Given the description of an element on the screen output the (x, y) to click on. 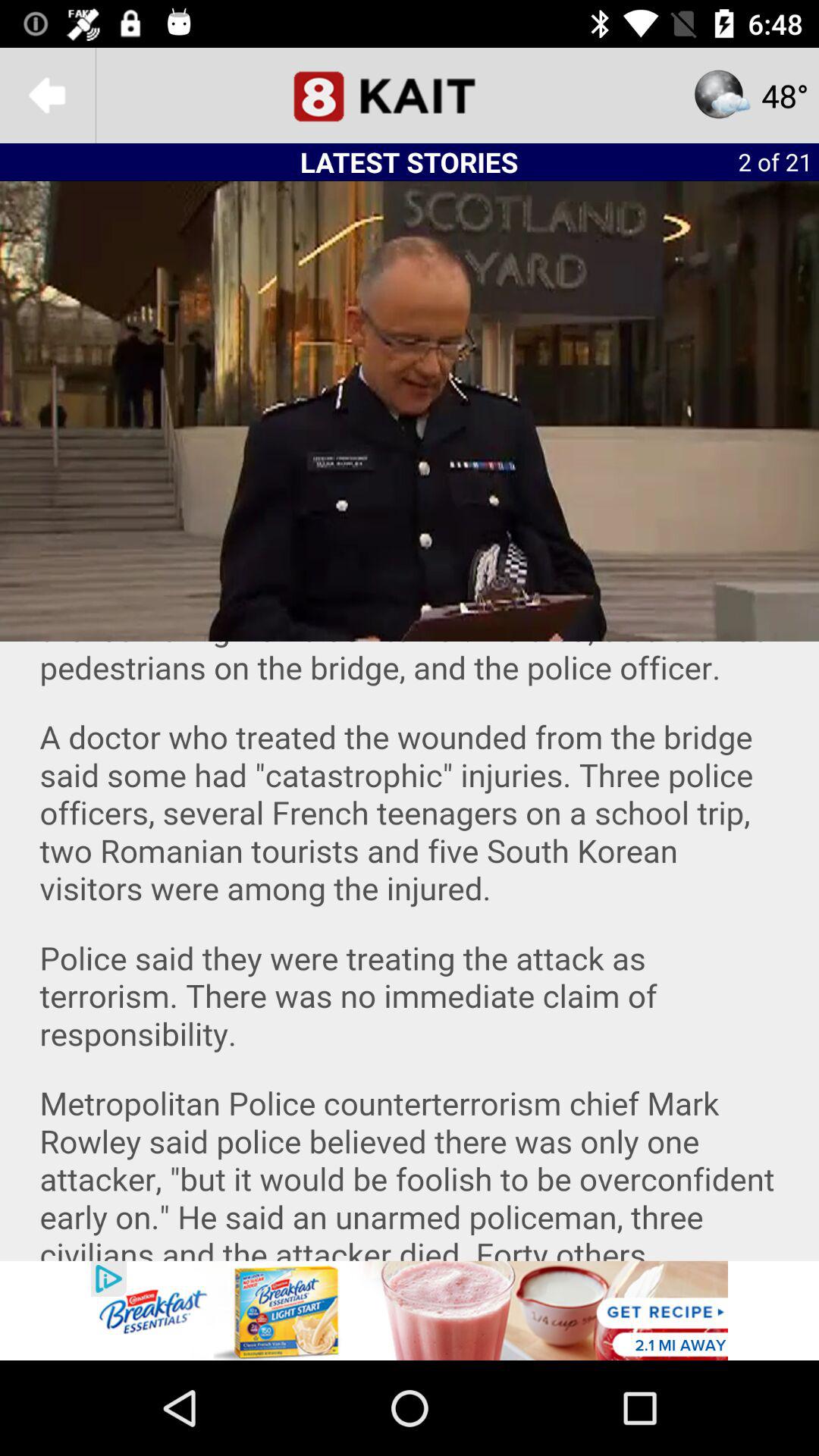
go to previous page (47, 95)
